Given the description of an element on the screen output the (x, y) to click on. 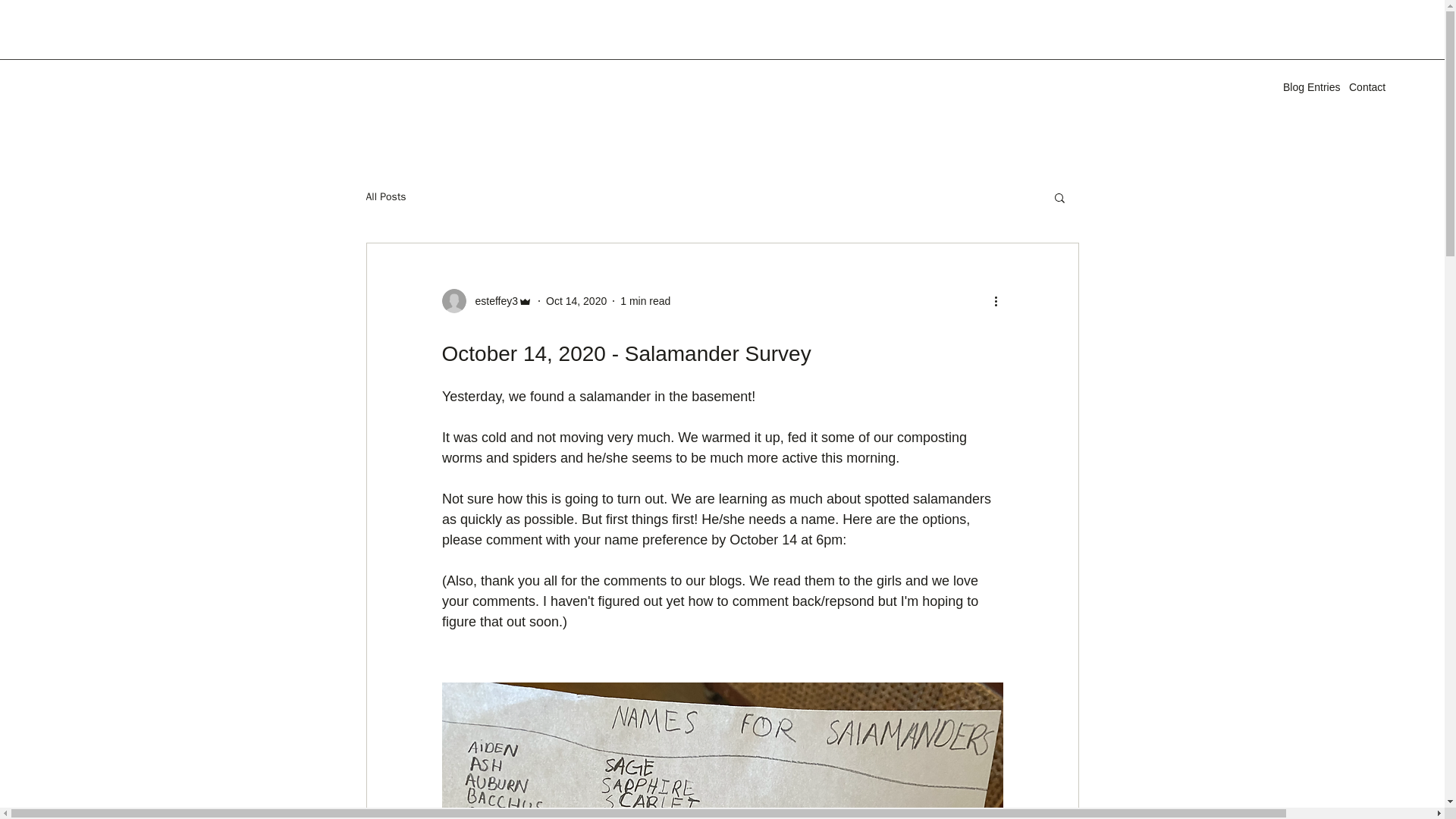
Blog Entries (1307, 87)
Oct 14, 2020 (576, 300)
esteffey3 (491, 300)
All Posts (385, 196)
esteffey3 (486, 300)
1 min read (644, 300)
Contact (1365, 87)
